Given the description of an element on the screen output the (x, y) to click on. 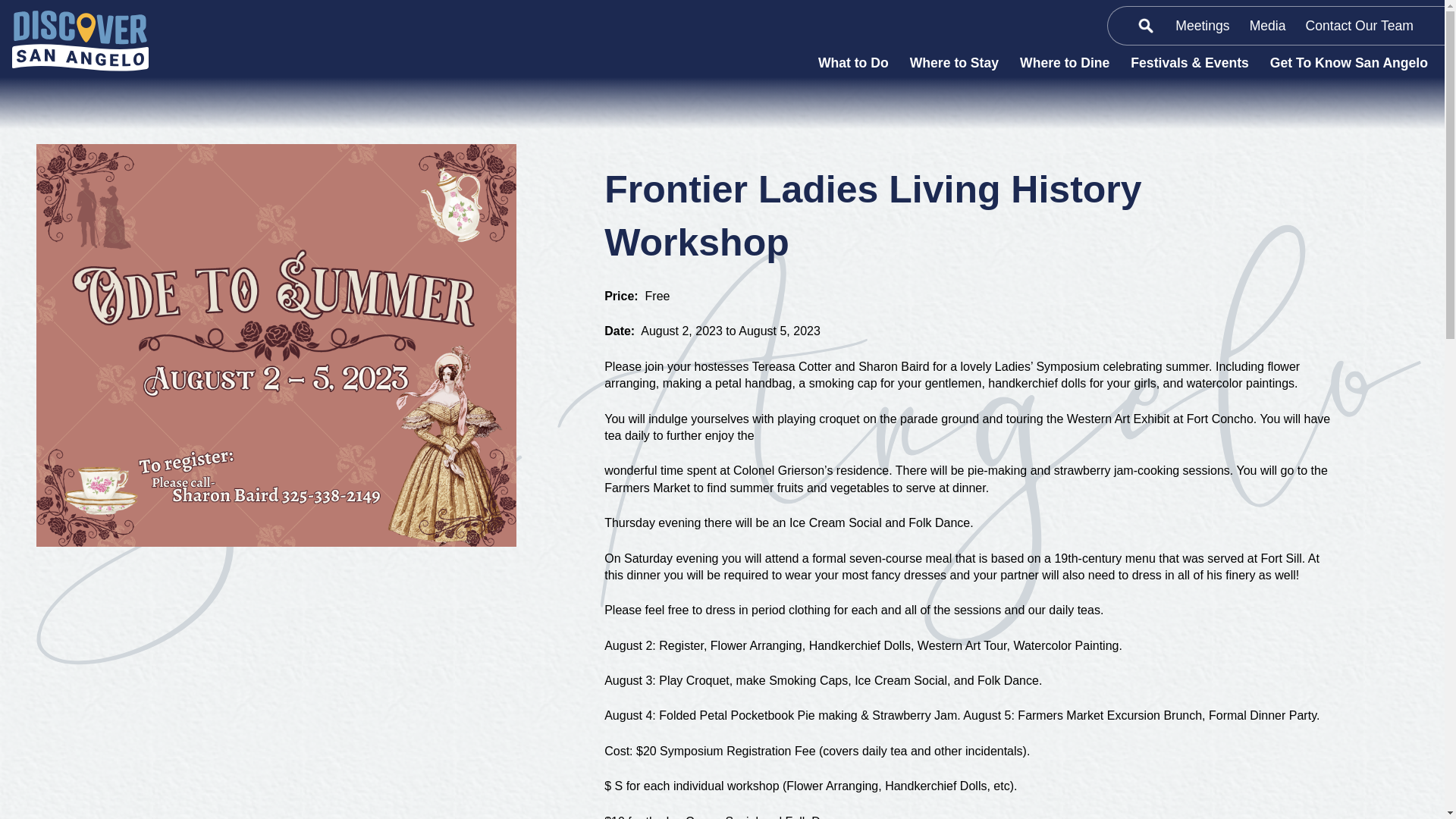
Where to Dine (1063, 62)
Contact Our Team (1358, 25)
Where to Stay (954, 62)
What to Do (853, 62)
Meetings (1202, 25)
Get To Know San Angelo (1348, 62)
Media (1268, 25)
